Given the description of an element on the screen output the (x, y) to click on. 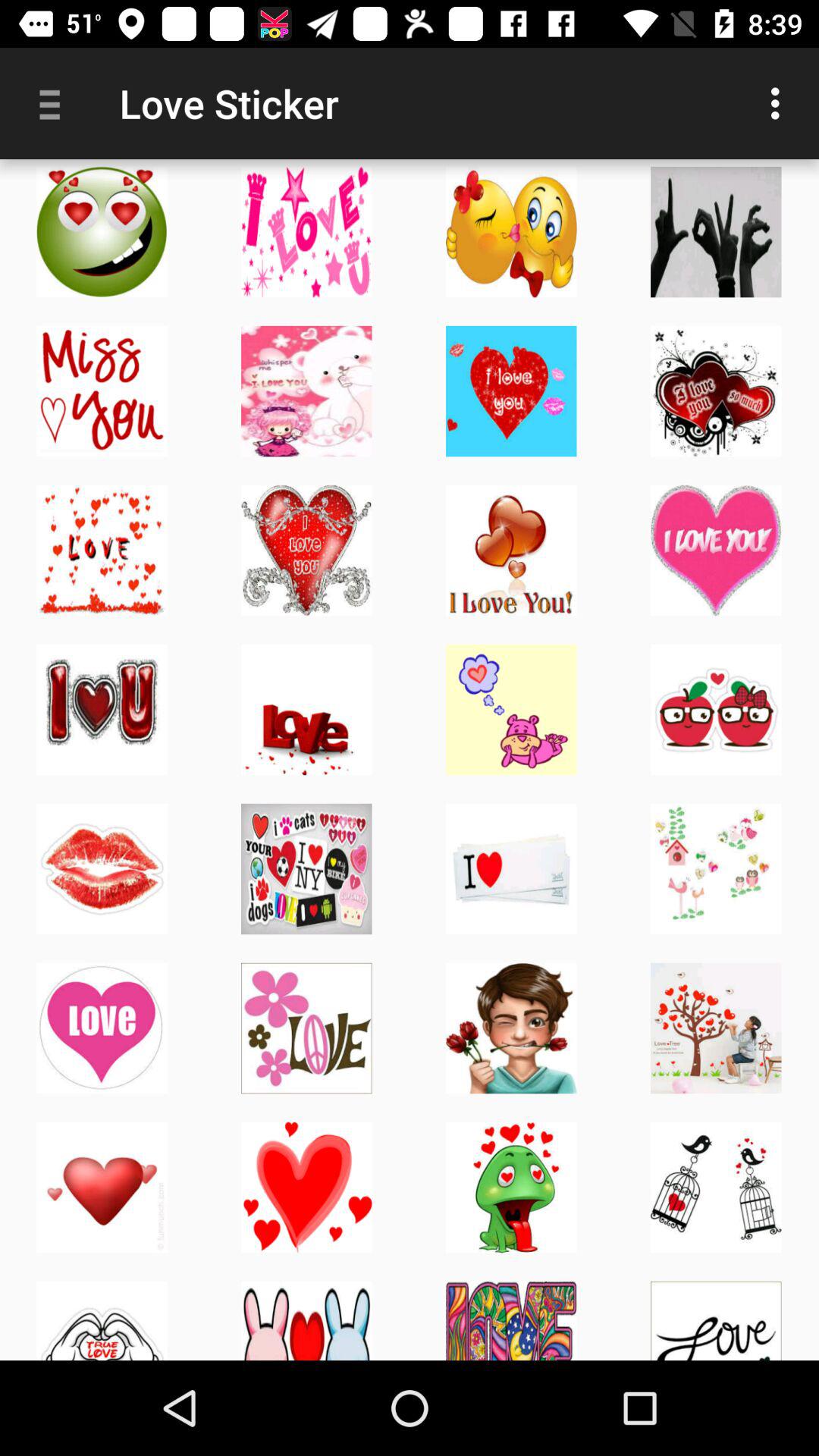
open icon to the left of the love sticker (55, 103)
